Given the description of an element on the screen output the (x, y) to click on. 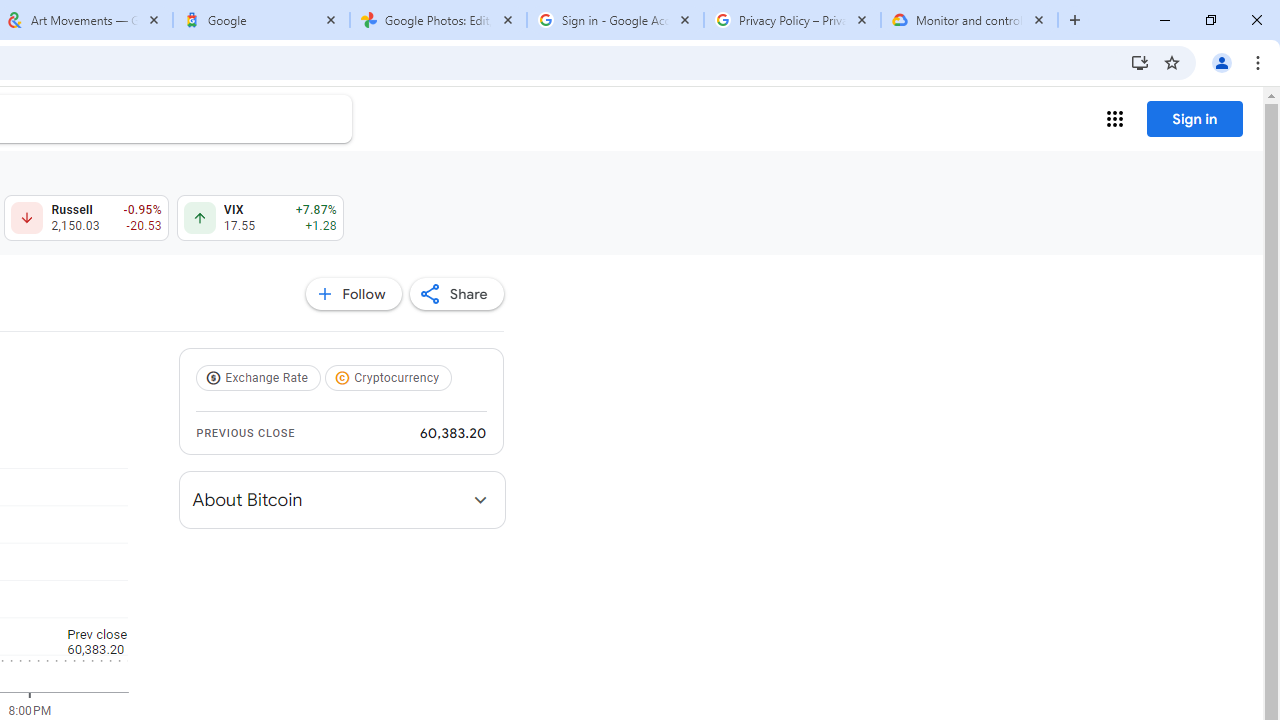
Sign in - Google Accounts (615, 20)
Cryptocurrency (390, 377)
Install Google Finance (1139, 62)
Google (260, 20)
About Bitcoin (342, 499)
Follow (353, 293)
